Given the description of an element on the screen output the (x, y) to click on. 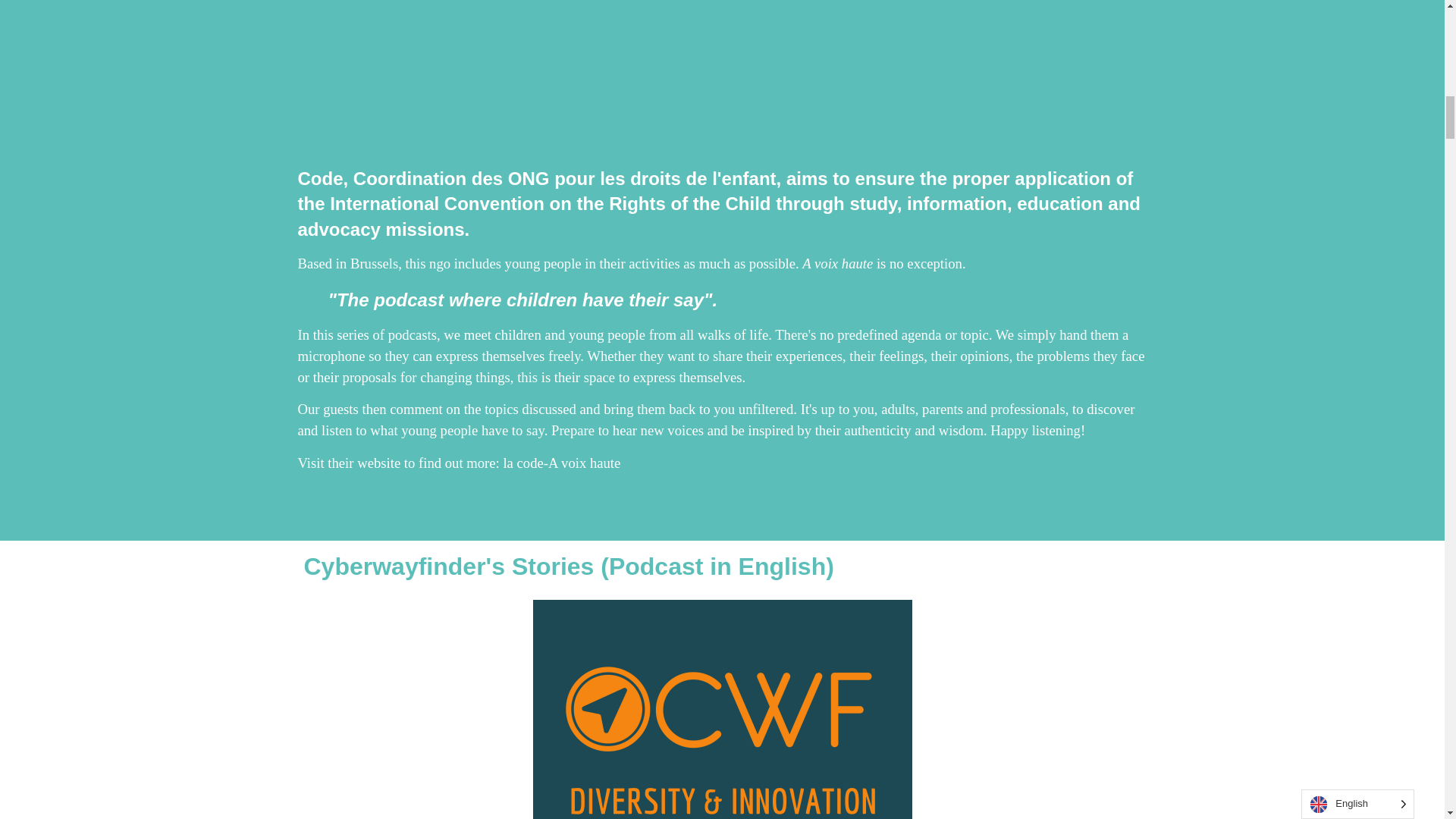
la code-A voix haute (561, 462)
Embed Player (722, 69)
cwf stories (721, 709)
